Given the description of an element on the screen output the (x, y) to click on. 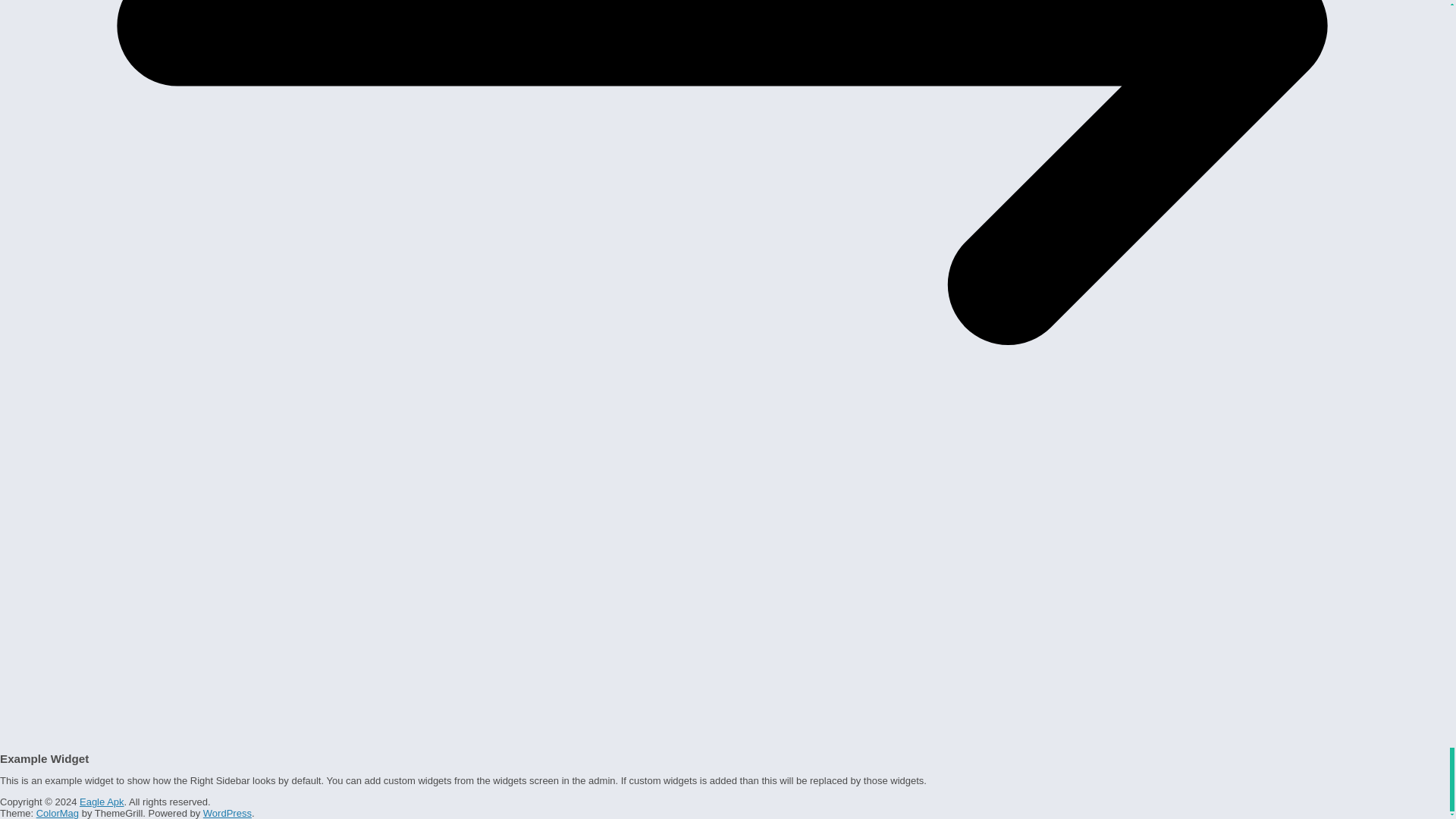
Eagle Apk (101, 801)
Eagle Apk (101, 801)
